Given the description of an element on the screen output the (x, y) to click on. 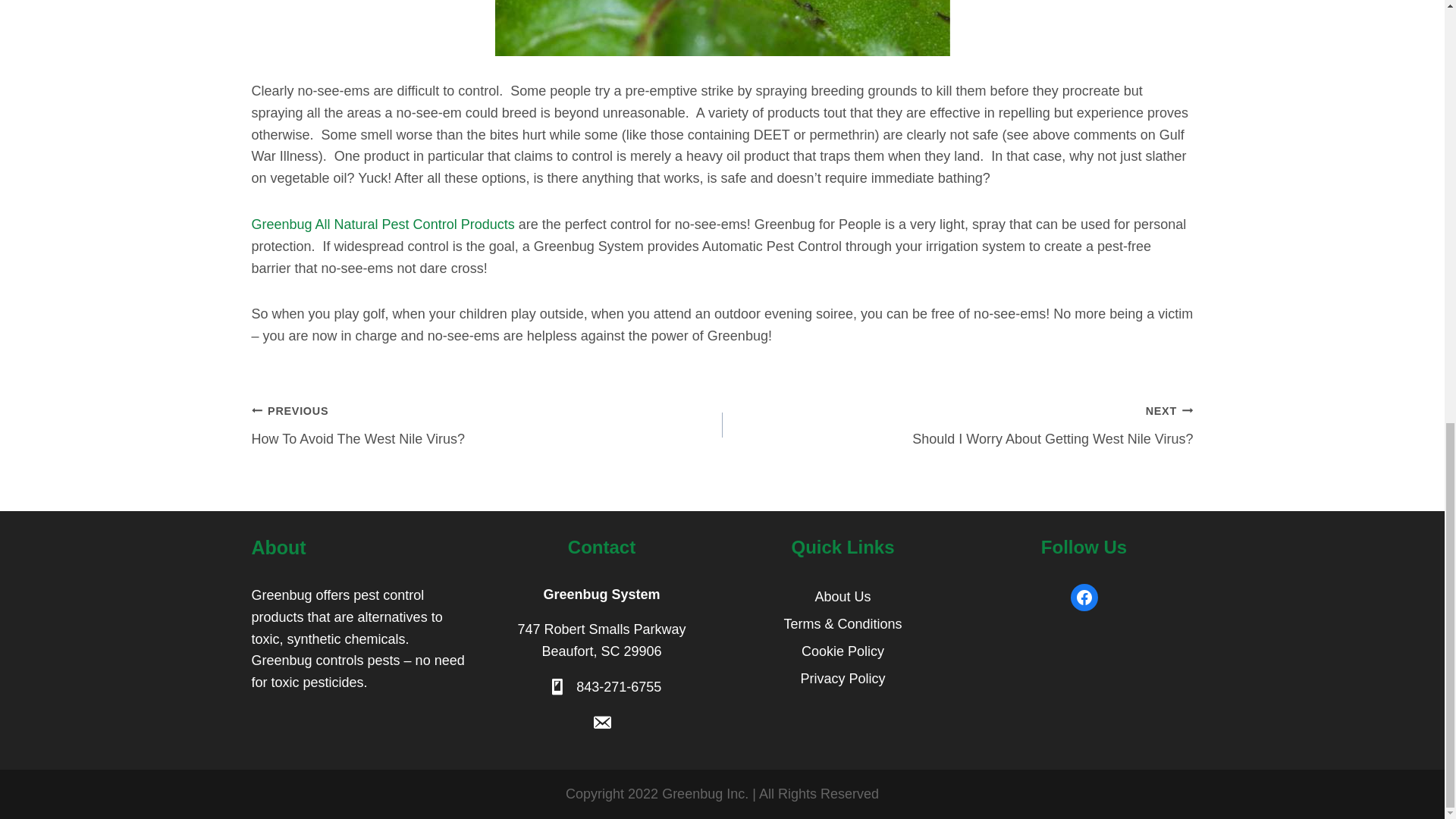
Privacy Policy (842, 678)
Facebook (486, 424)
843-271-6755 (1083, 596)
Greenbug All Natural Pest Control Products (618, 686)
Cookie Policy (383, 224)
About Us (842, 651)
